Given the description of an element on the screen output the (x, y) to click on. 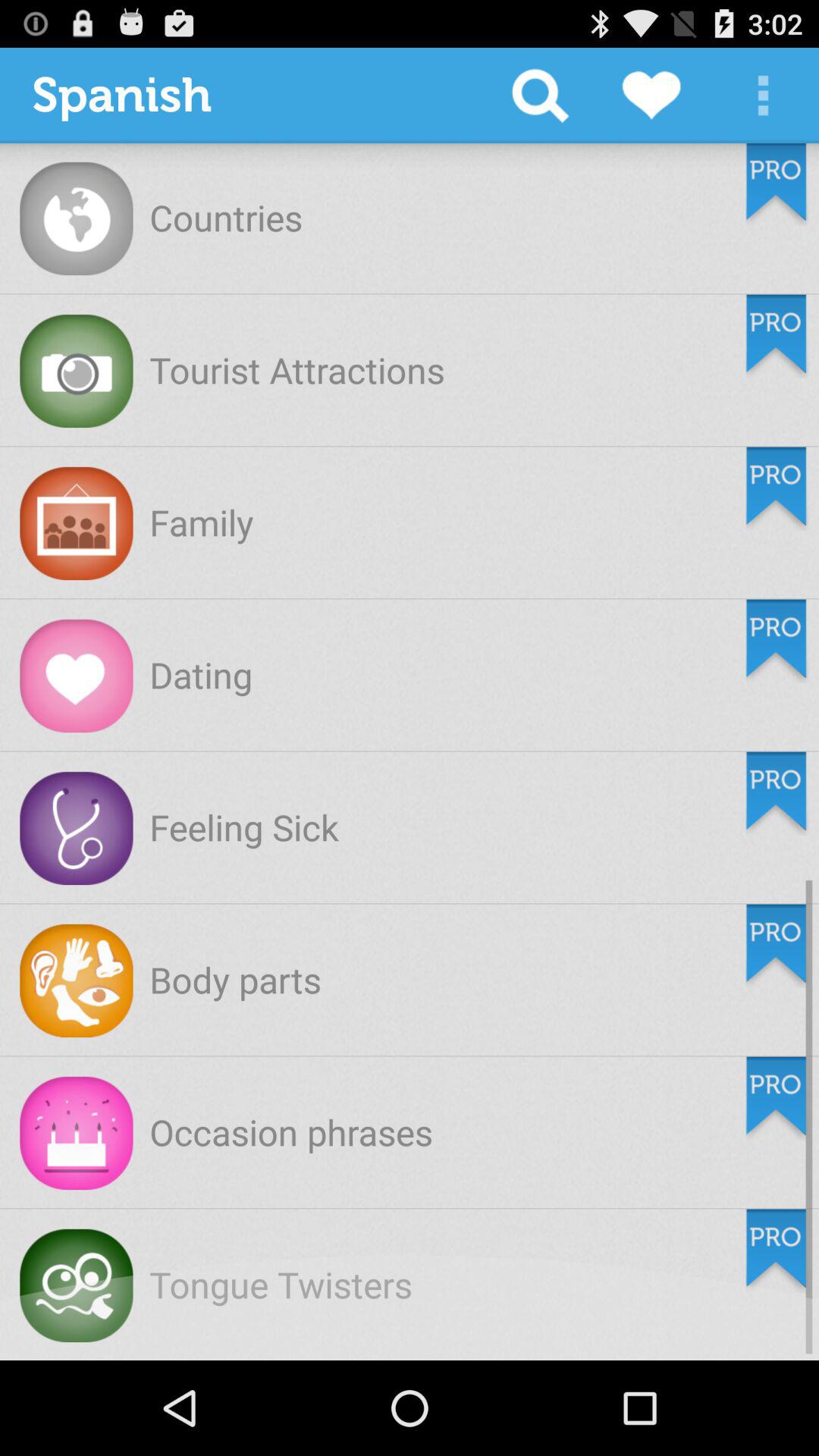
press app below the spanish (225, 217)
